Given the description of an element on the screen output the (x, y) to click on. 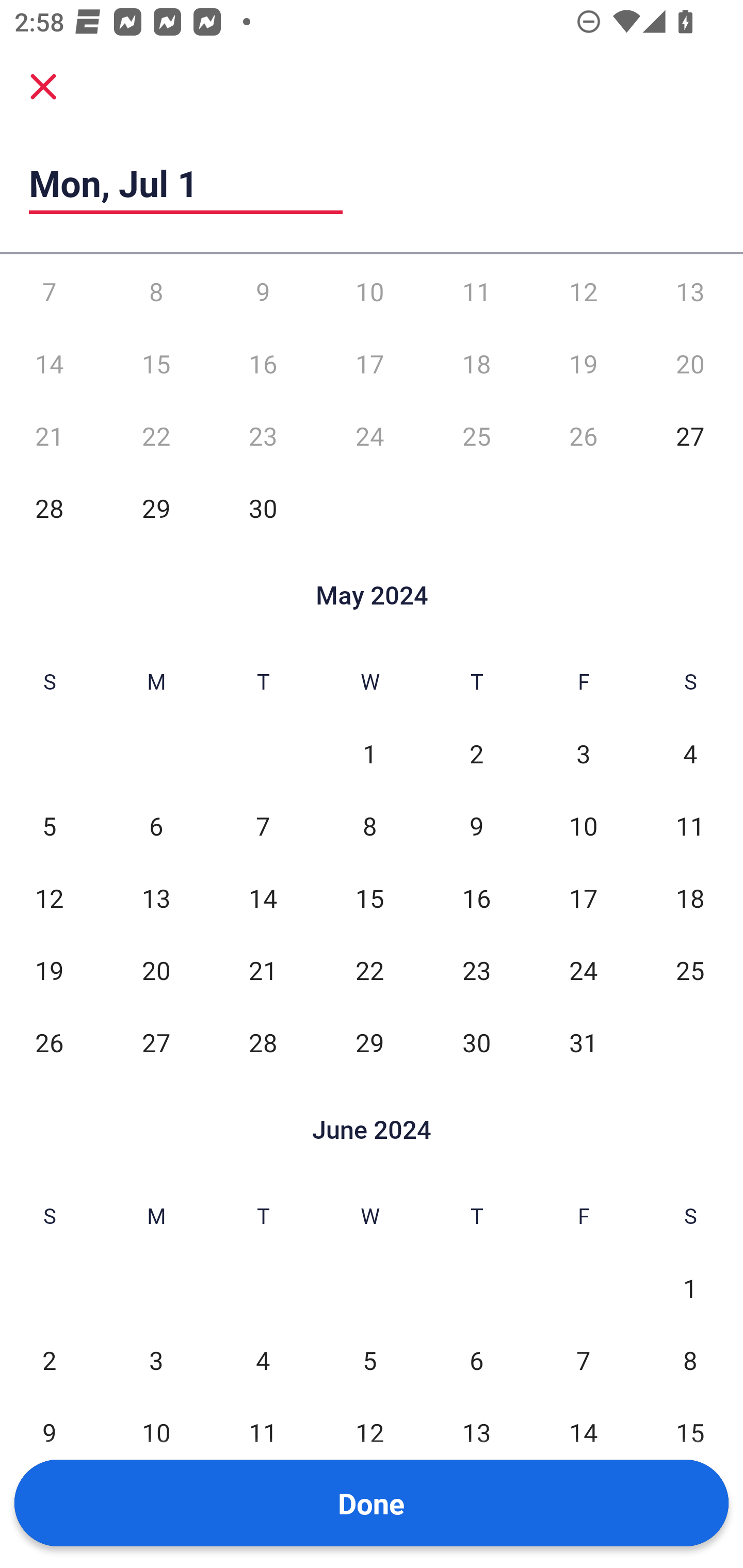
Cancel (43, 86)
Mon, Jul 1 (185, 182)
1 Mon, Apr 1, Not Selected (156, 254)
2 Tue, Apr 2, Not Selected (263, 254)
3 Wed, Apr 3, Not Selected (369, 254)
4 Thu, Apr 4, Not Selected (476, 254)
5 Fri, Apr 5, Not Selected (583, 254)
6 Sat, Apr 6, Not Selected (690, 254)
7 Sun, Apr 7, Not Selected (49, 291)
8 Mon, Apr 8, Not Selected (156, 291)
9 Tue, Apr 9, Not Selected (263, 291)
10 Wed, Apr 10, Not Selected (369, 291)
11 Thu, Apr 11, Not Selected (476, 291)
12 Fri, Apr 12, Not Selected (583, 291)
13 Sat, Apr 13, Not Selected (690, 291)
14 Sun, Apr 14, Not Selected (49, 363)
15 Mon, Apr 15, Not Selected (156, 363)
16 Tue, Apr 16, Not Selected (263, 363)
17 Wed, Apr 17, Not Selected (369, 363)
18 Thu, Apr 18, Not Selected (476, 363)
19 Fri, Apr 19, Not Selected (583, 363)
20 Sat, Apr 20, Not Selected (690, 363)
21 Sun, Apr 21, Not Selected (49, 435)
22 Mon, Apr 22, Not Selected (156, 435)
23 Tue, Apr 23, Not Selected (263, 435)
24 Wed, Apr 24, Not Selected (369, 435)
25 Thu, Apr 25, Not Selected (476, 435)
26 Fri, Apr 26, Not Selected (583, 435)
27 Sat, Apr 27, Not Selected (690, 435)
28 Sun, Apr 28, Not Selected (49, 507)
29 Mon, Apr 29, Not Selected (156, 507)
30 Tue, Apr 30, Not Selected (263, 507)
1 Wed, May 1, Not Selected (369, 754)
2 Thu, May 2, Not Selected (476, 754)
3 Fri, May 3, Not Selected (583, 754)
4 Sat, May 4, Not Selected (690, 754)
5 Sun, May 5, Not Selected (49, 826)
6 Mon, May 6, Not Selected (156, 826)
7 Tue, May 7, Not Selected (263, 826)
8 Wed, May 8, Not Selected (369, 826)
9 Thu, May 9, Not Selected (476, 826)
10 Fri, May 10, Not Selected (583, 826)
11 Sat, May 11, Not Selected (690, 826)
12 Sun, May 12, Not Selected (49, 898)
13 Mon, May 13, Not Selected (156, 898)
14 Tue, May 14, Not Selected (263, 898)
15 Wed, May 15, Not Selected (369, 898)
16 Thu, May 16, Not Selected (476, 898)
17 Fri, May 17, Not Selected (583, 898)
18 Sat, May 18, Not Selected (690, 898)
19 Sun, May 19, Not Selected (49, 970)
20 Mon, May 20, Not Selected (156, 970)
21 Tue, May 21, Not Selected (263, 970)
22 Wed, May 22, Not Selected (369, 970)
23 Thu, May 23, Not Selected (476, 970)
24 Fri, May 24, Not Selected (583, 970)
25 Sat, May 25, Not Selected (690, 970)
26 Sun, May 26, Not Selected (49, 1042)
27 Mon, May 27, Not Selected (156, 1042)
28 Tue, May 28, Not Selected (263, 1042)
29 Wed, May 29, Not Selected (369, 1042)
30 Thu, May 30, Not Selected (476, 1042)
31 Fri, May 31, Not Selected (583, 1042)
1 Sat, Jun 1, Not Selected (690, 1287)
2 Sun, Jun 2, Not Selected (49, 1359)
3 Mon, Jun 3, Not Selected (156, 1359)
4 Tue, Jun 4, Not Selected (263, 1359)
5 Wed, Jun 5, Not Selected (369, 1359)
6 Thu, Jun 6, Not Selected (476, 1359)
7 Fri, Jun 7, Not Selected (583, 1359)
8 Sat, Jun 8, Not Selected (690, 1359)
9 Sun, Jun 9, Not Selected (49, 1432)
10 Mon, Jun 10, Not Selected (156, 1432)
11 Tue, Jun 11, Not Selected (263, 1432)
12 Wed, Jun 12, Not Selected (369, 1432)
13 Thu, Jun 13, Not Selected (476, 1432)
14 Fri, Jun 14, Not Selected (583, 1432)
15 Sat, Jun 15, Not Selected (690, 1432)
Done Button Done (371, 1502)
